Given the description of an element on the screen output the (x, y) to click on. 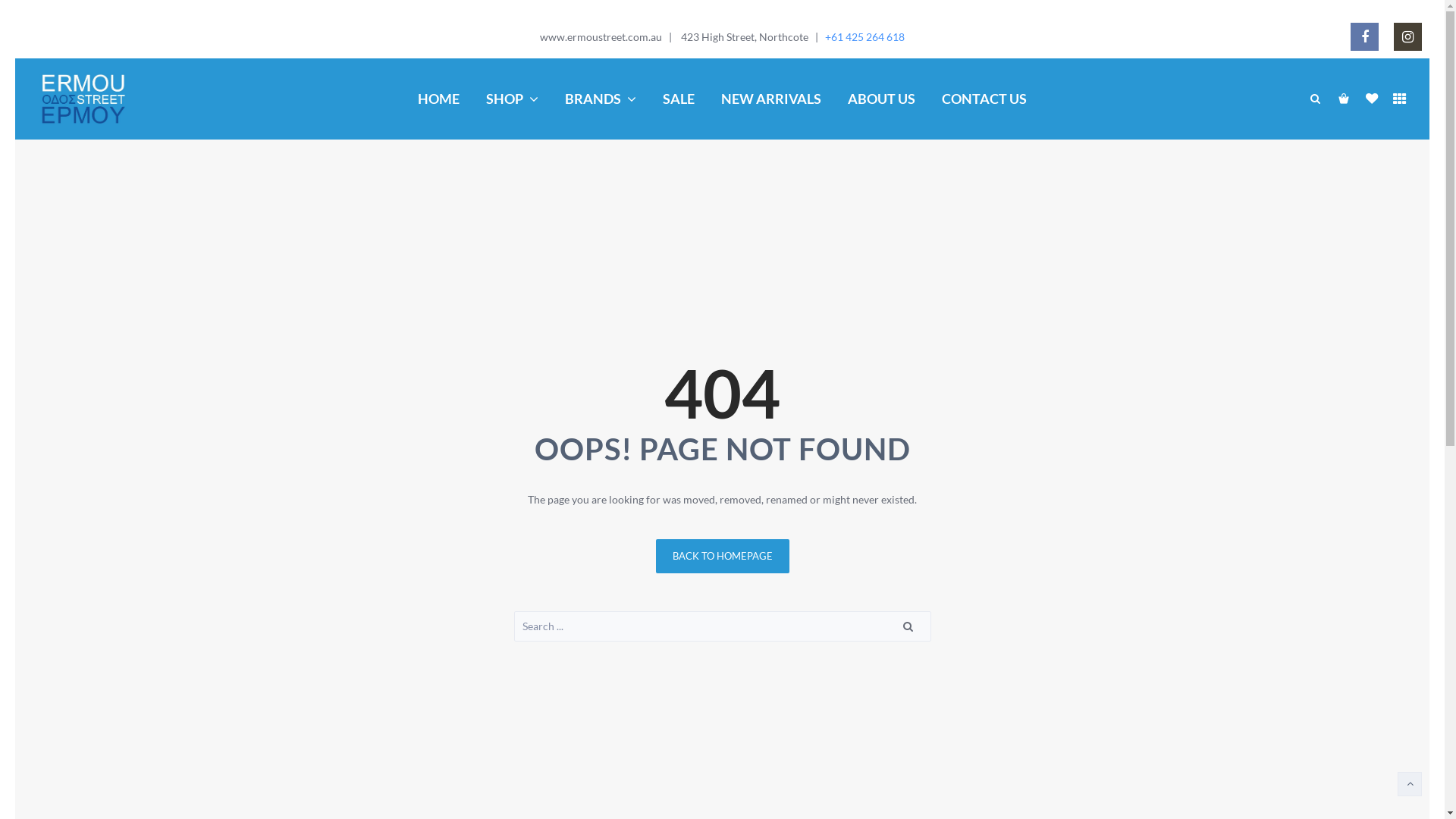
BRANDS Element type: text (600, 98)
ABOUT US Element type: text (881, 98)
SHOP Element type: text (511, 98)
SALE Element type: text (678, 98)
Search for Element type: hover (722, 626)
Back to top Element type: hover (1409, 783)
BACK TO HOMEPAGE Element type: text (721, 556)
Instagram Element type: hover (1407, 36)
HOME Element type: text (438, 98)
NEW ARRIVALS Element type: text (770, 98)
Facebook Element type: hover (1364, 36)
+61 425 264 618 Element type: text (864, 36)
CONTACT US Element type: text (983, 98)
